Given the description of an element on the screen output the (x, y) to click on. 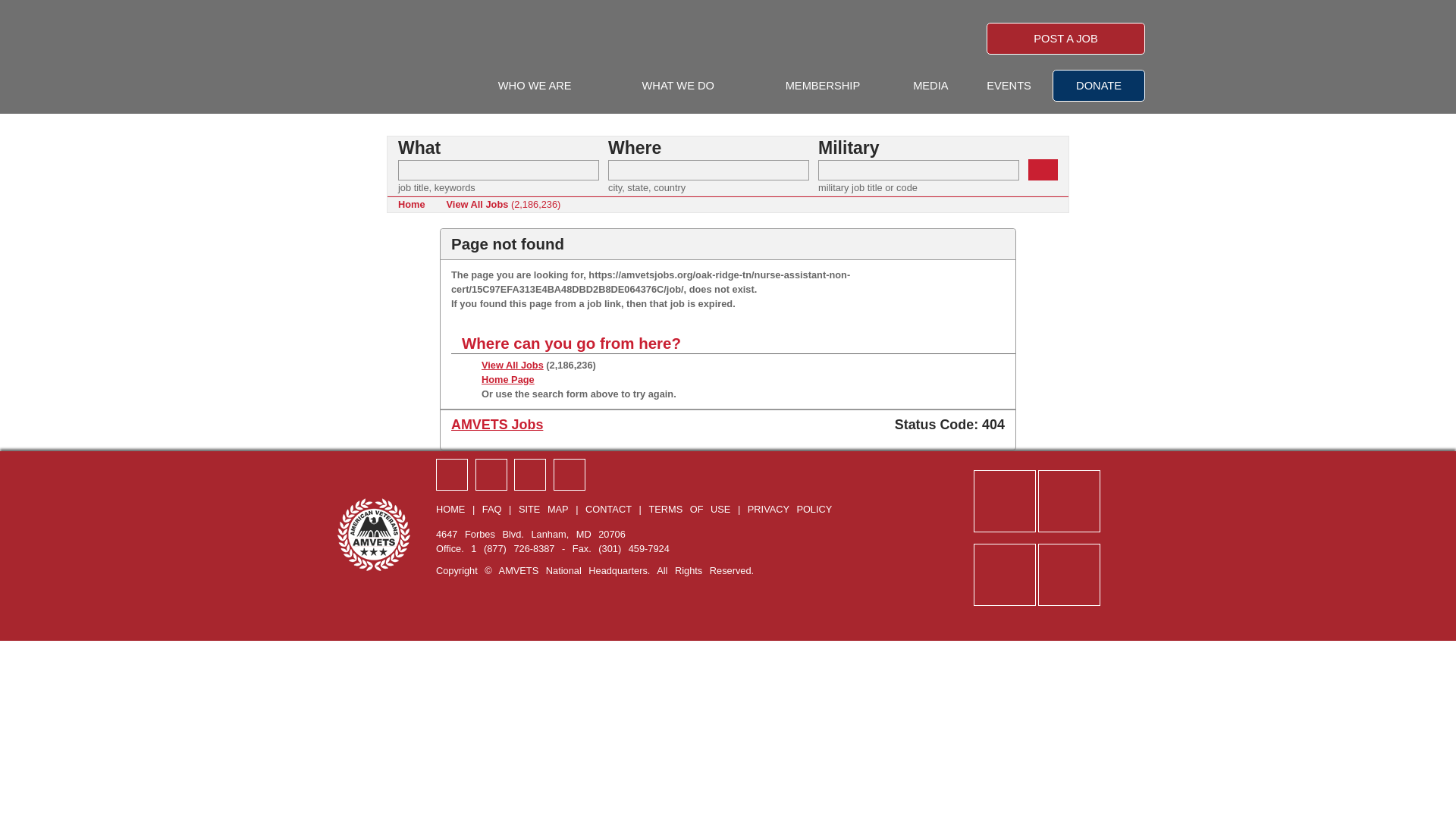
Search MOC (918, 169)
WHO WE ARE (534, 86)
MEDIA (929, 86)
AMVETS National Headquarters (356, 55)
Search Phrase (497, 169)
POST A JOB (1065, 38)
WHAT WE DO (678, 86)
Search Location (708, 169)
Submit Search (1042, 169)
MEMBERSHIP (823, 86)
